Given the description of an element on the screen output the (x, y) to click on. 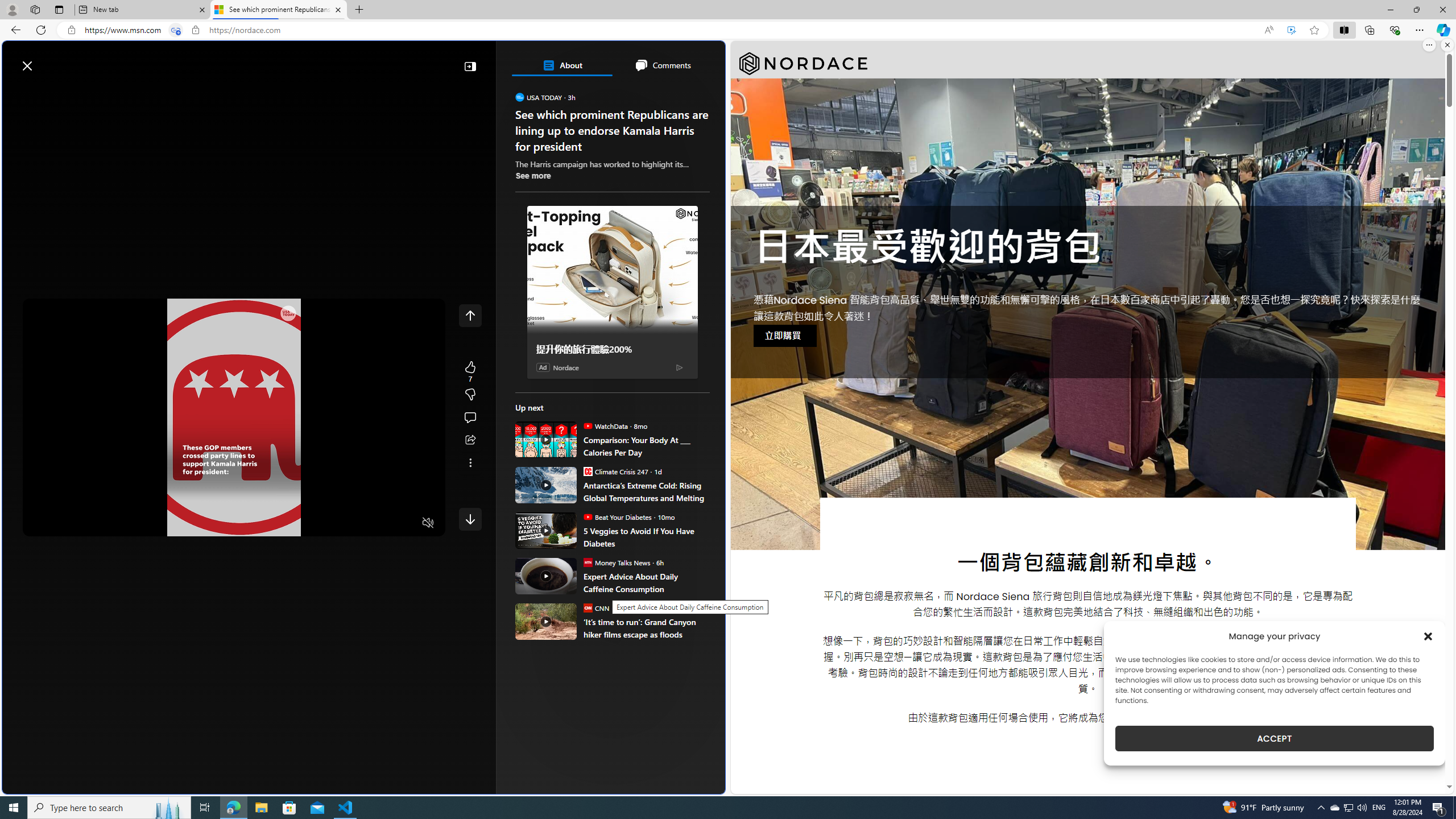
Open navigation menu (16, 92)
Web search (161, 60)
Comments (662, 64)
Comparison: Your Body At ___ Calories Per Day (646, 445)
The Associated Press (554, 366)
Expert Advice About Daily Caffeine Consumption (646, 582)
Beat Your Diabetes Beat Your Diabetes (617, 516)
ABC News (554, 415)
More like this7Fewer like thisStart the conversation (469, 394)
